Given the description of an element on the screen output the (x, y) to click on. 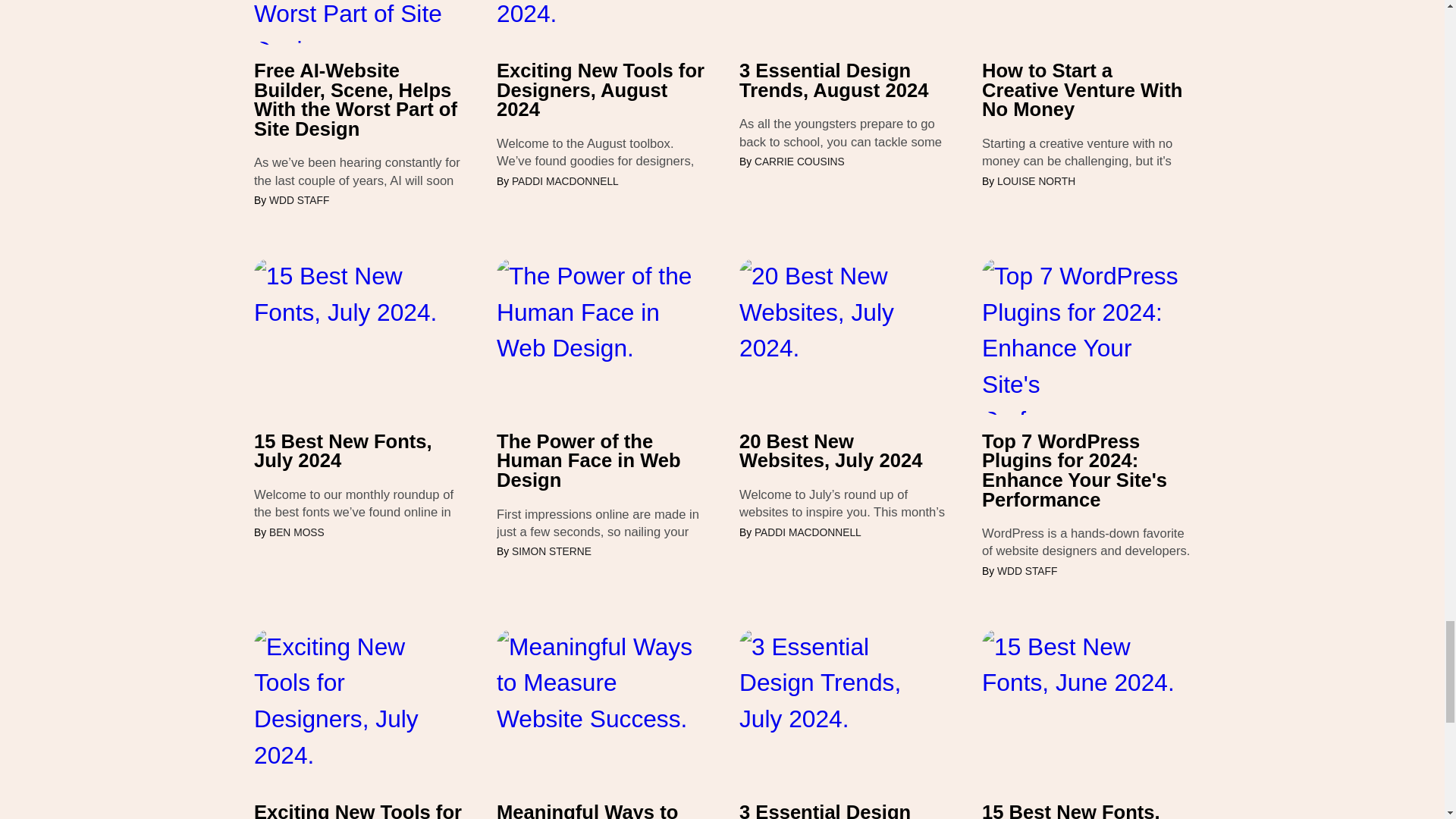
PADDI MACDONNELL (565, 181)
WDD STAFF (299, 200)
Exciting New Tools for Designers, August 2024 (600, 90)
CARRIE COUSINS (799, 161)
3 Essential Design Trends, August 2024 (843, 80)
